Given the description of an element on the screen output the (x, y) to click on. 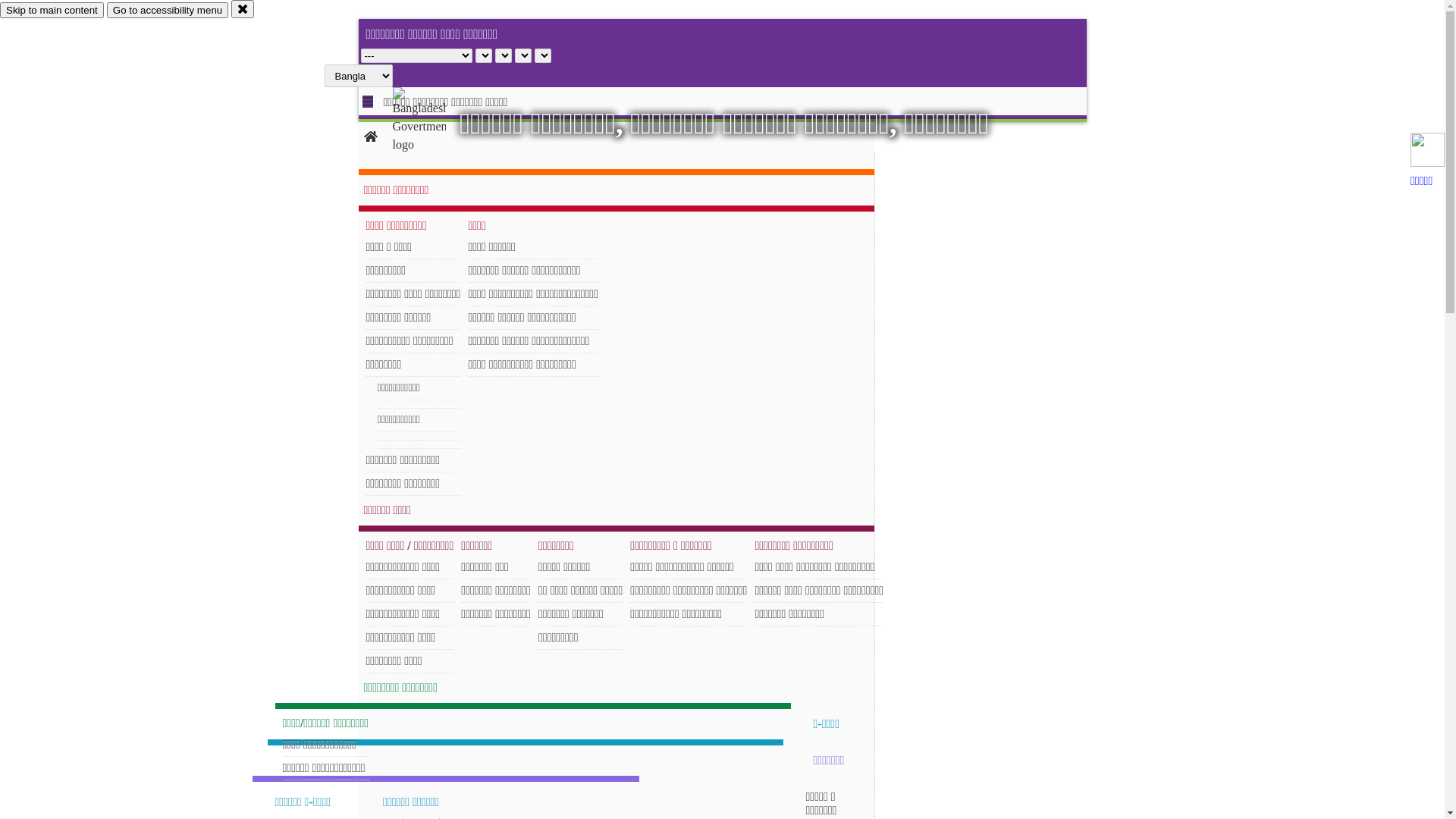

                
             Element type: hover (431, 120)
Skip to main content Element type: text (51, 10)
close Element type: hover (242, 9)
Go to accessibility menu Element type: text (167, 10)
